Given the description of an element on the screen output the (x, y) to click on. 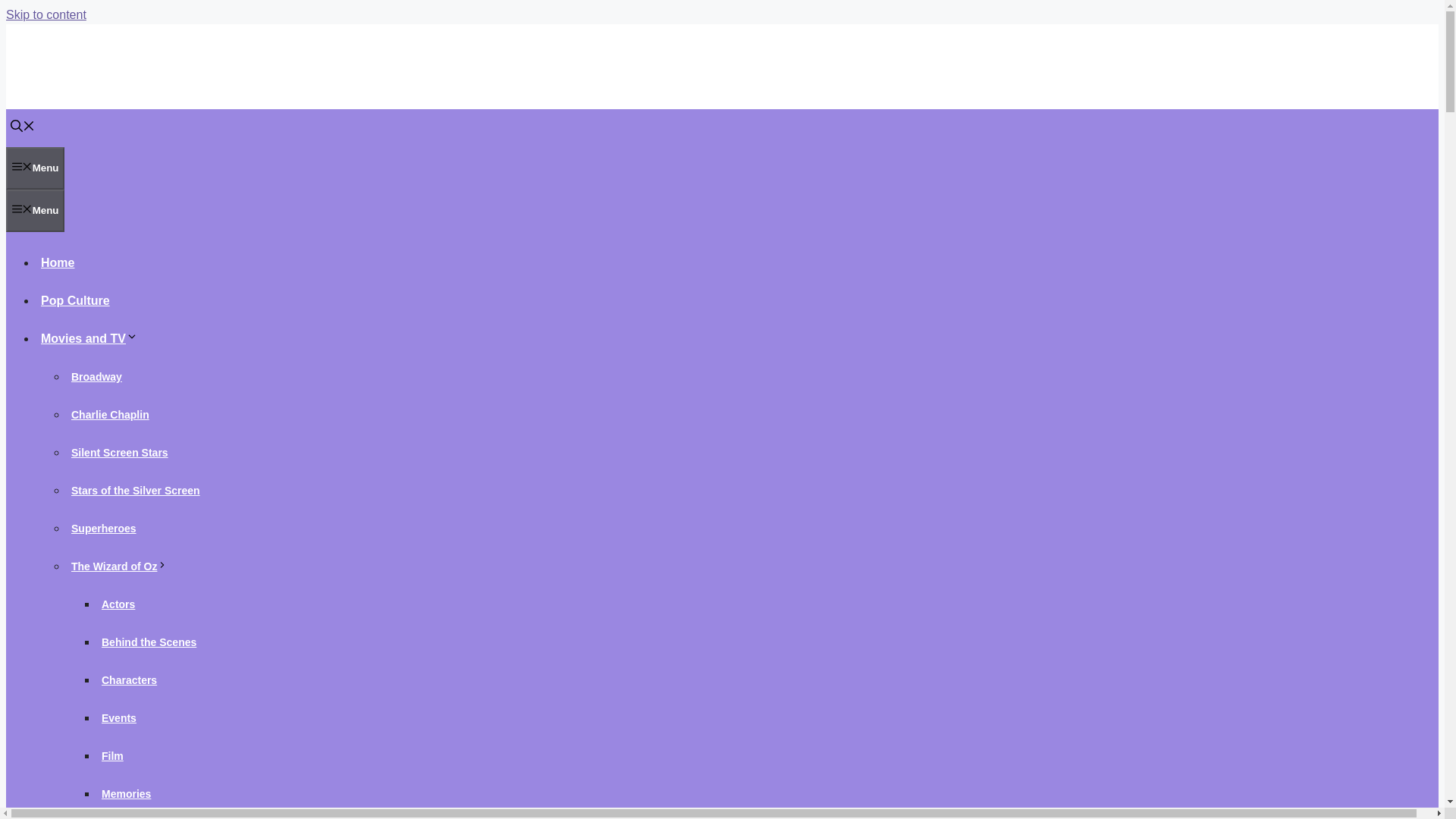
Broadway (96, 376)
Menu (34, 210)
Stars of the Silver Screen (135, 490)
Actors (118, 604)
Charlie Chaplin (110, 414)
Film (112, 755)
Skip to content (45, 14)
Memories (126, 793)
Silent Screen Stars (119, 452)
